Given the description of an element on the screen output the (x, y) to click on. 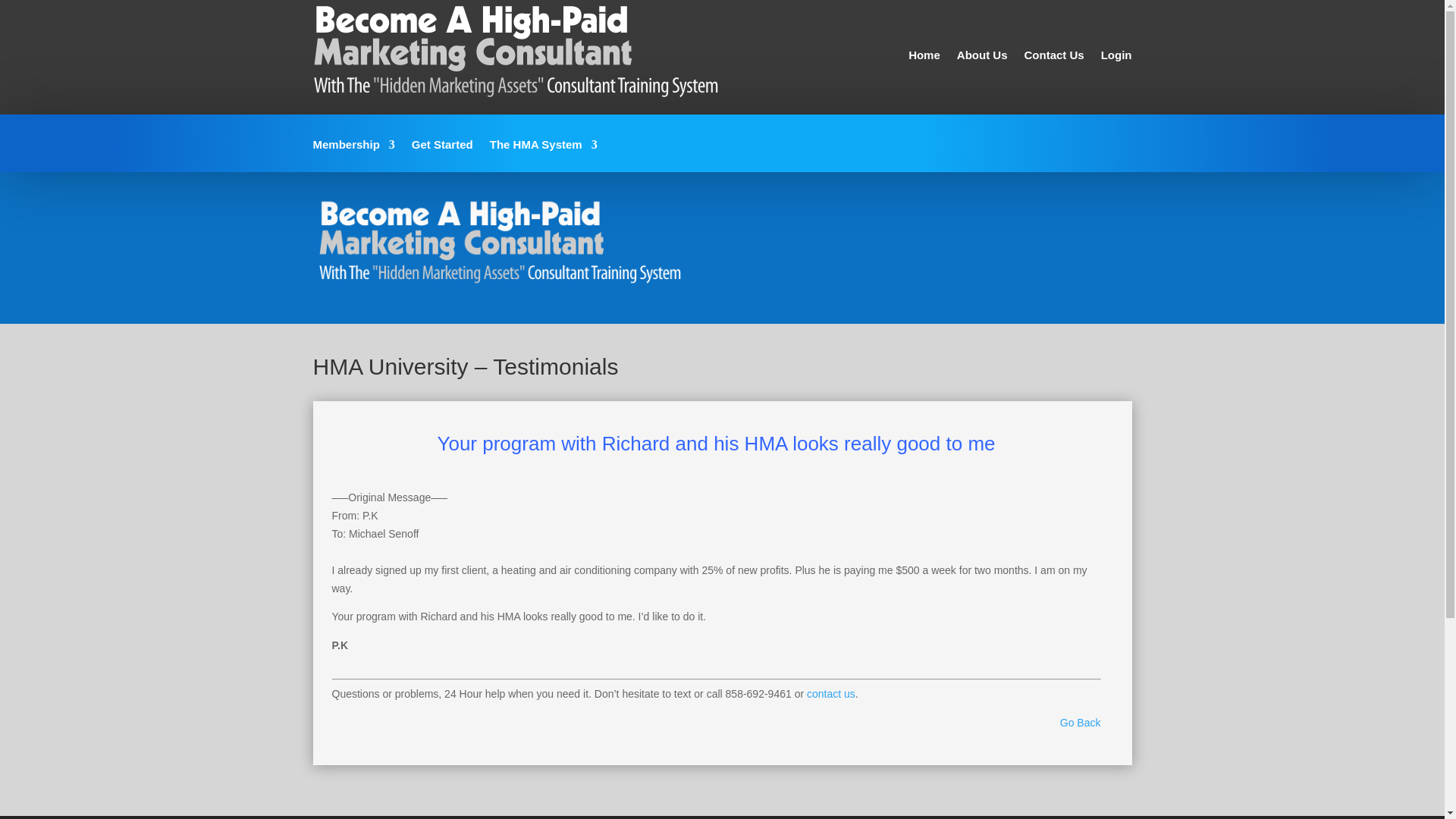
contact us (831, 693)
Get Started (442, 155)
header-logo (505, 245)
Go Back (1079, 722)
The HMA System (542, 155)
Membership (353, 155)
